Given the description of an element on the screen output the (x, y) to click on. 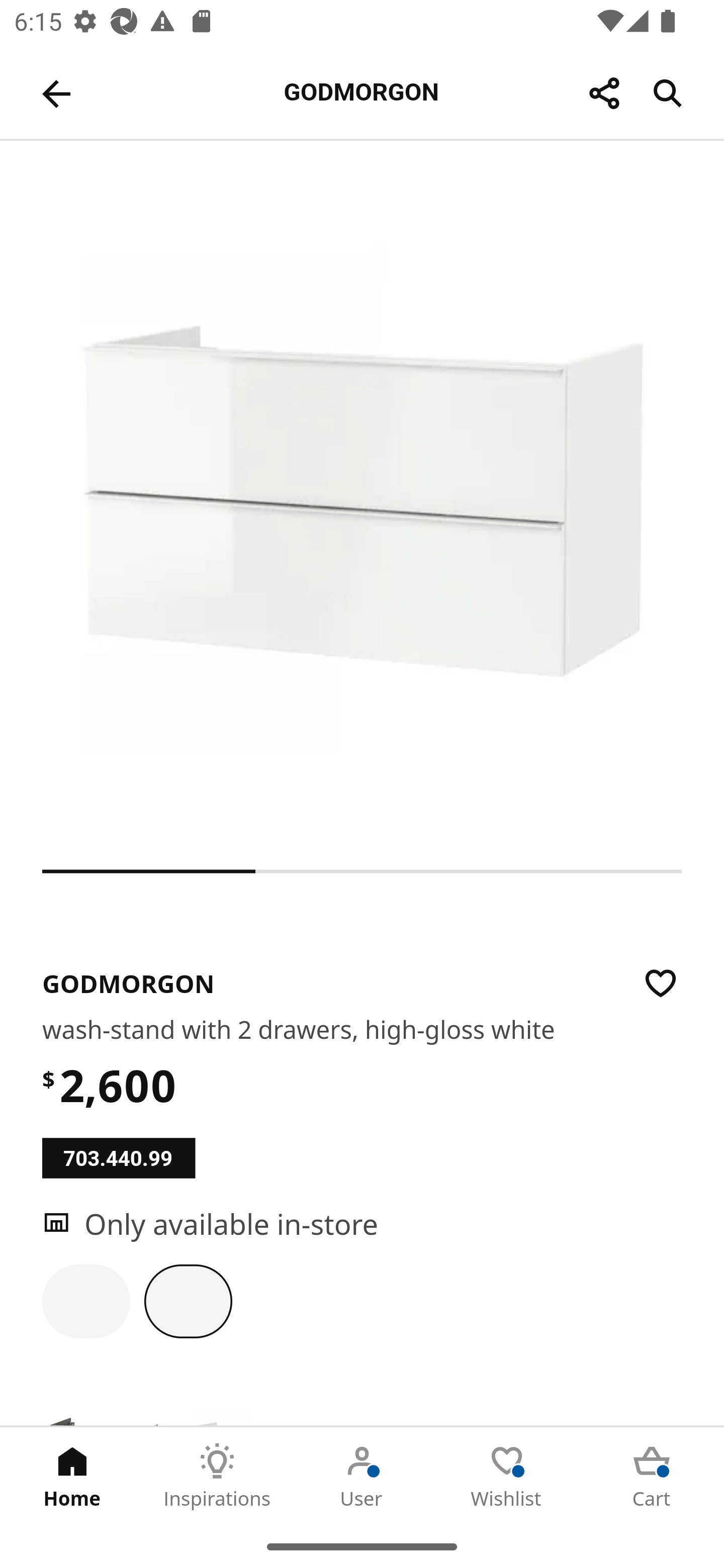
Home
Tab 1 of 5 (72, 1476)
Inspirations
Tab 2 of 5 (216, 1476)
User
Tab 3 of 5 (361, 1476)
Wishlist
Tab 4 of 5 (506, 1476)
Cart
Tab 5 of 5 (651, 1476)
